Given the description of an element on the screen output the (x, y) to click on. 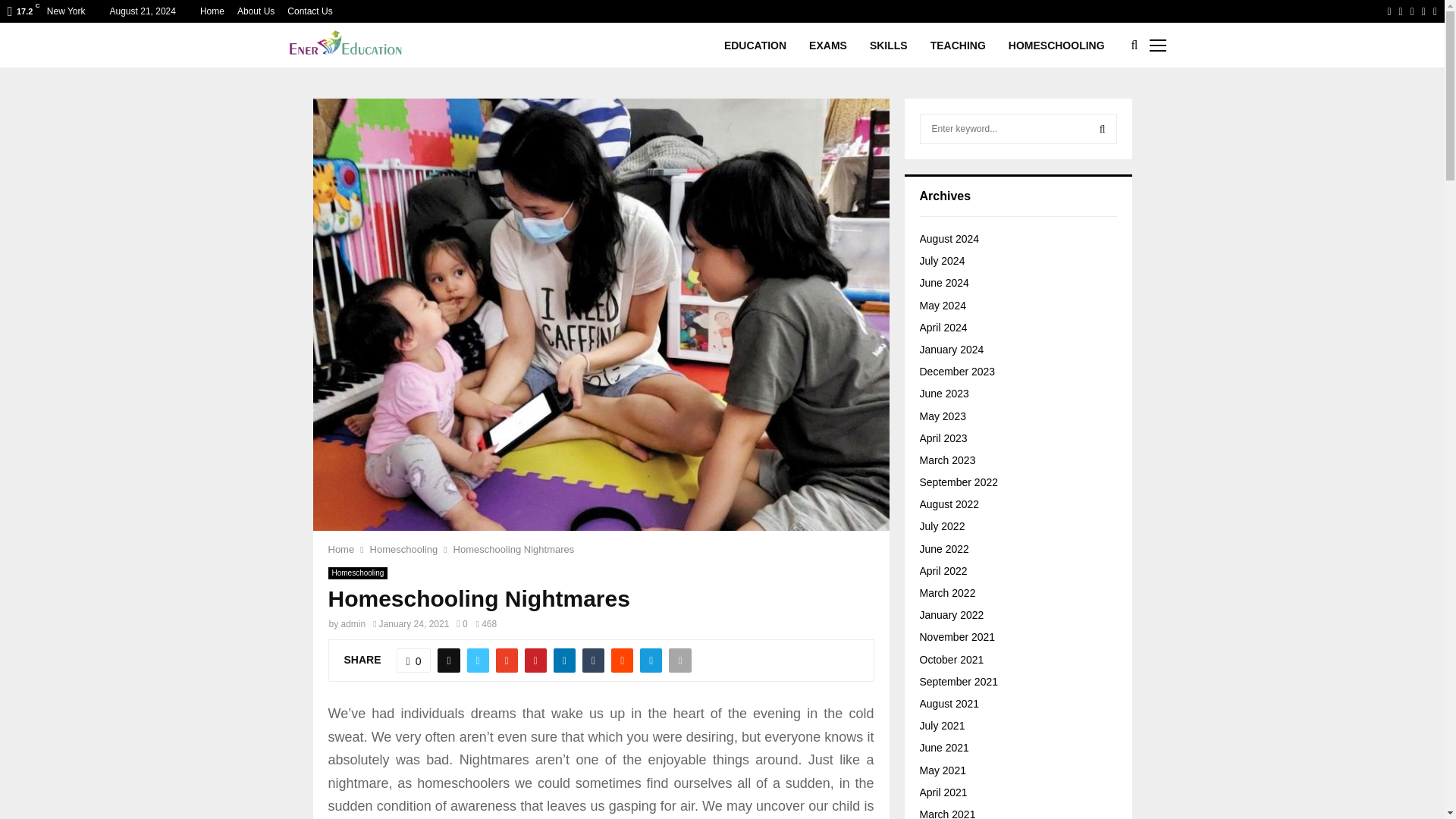
Home (212, 11)
0 (462, 624)
Like (413, 660)
Home (340, 549)
EDUCATION (754, 44)
Contact Us (308, 11)
admin (353, 624)
Homeschooling (403, 549)
TEACHING (957, 44)
About Us (256, 11)
